Given the description of an element on the screen output the (x, y) to click on. 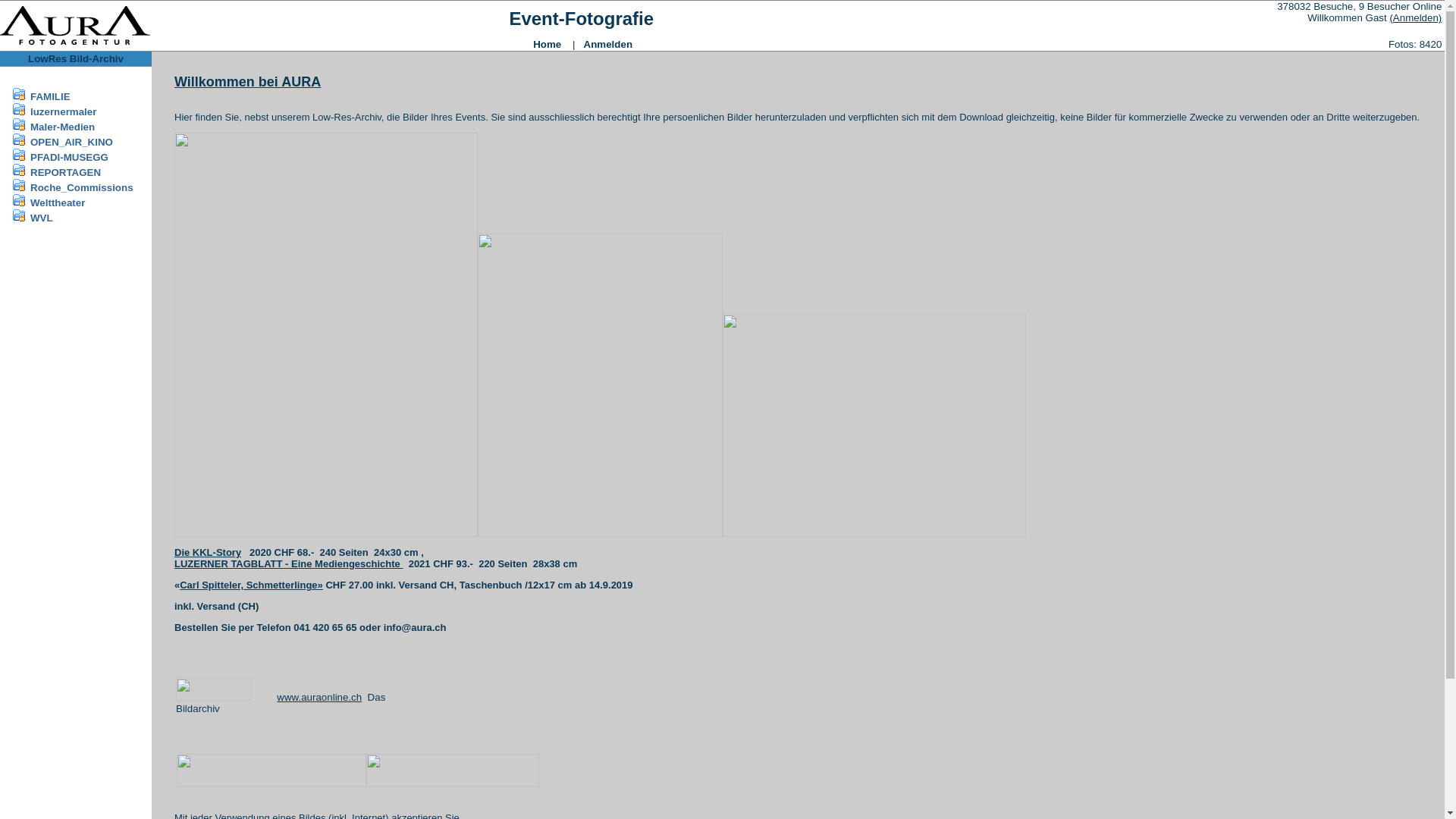
LUZERNER TAGBLATT - Eine Mediengeschichte Element type: text (288, 563)
Anmelden Element type: text (607, 44)
Home Element type: text (547, 44)
(Anmelden) Element type: text (1415, 17)
Die KKL-Story Element type: text (207, 552)
www.auraonline.ch Element type: text (318, 696)
